Given the description of an element on the screen output the (x, y) to click on. 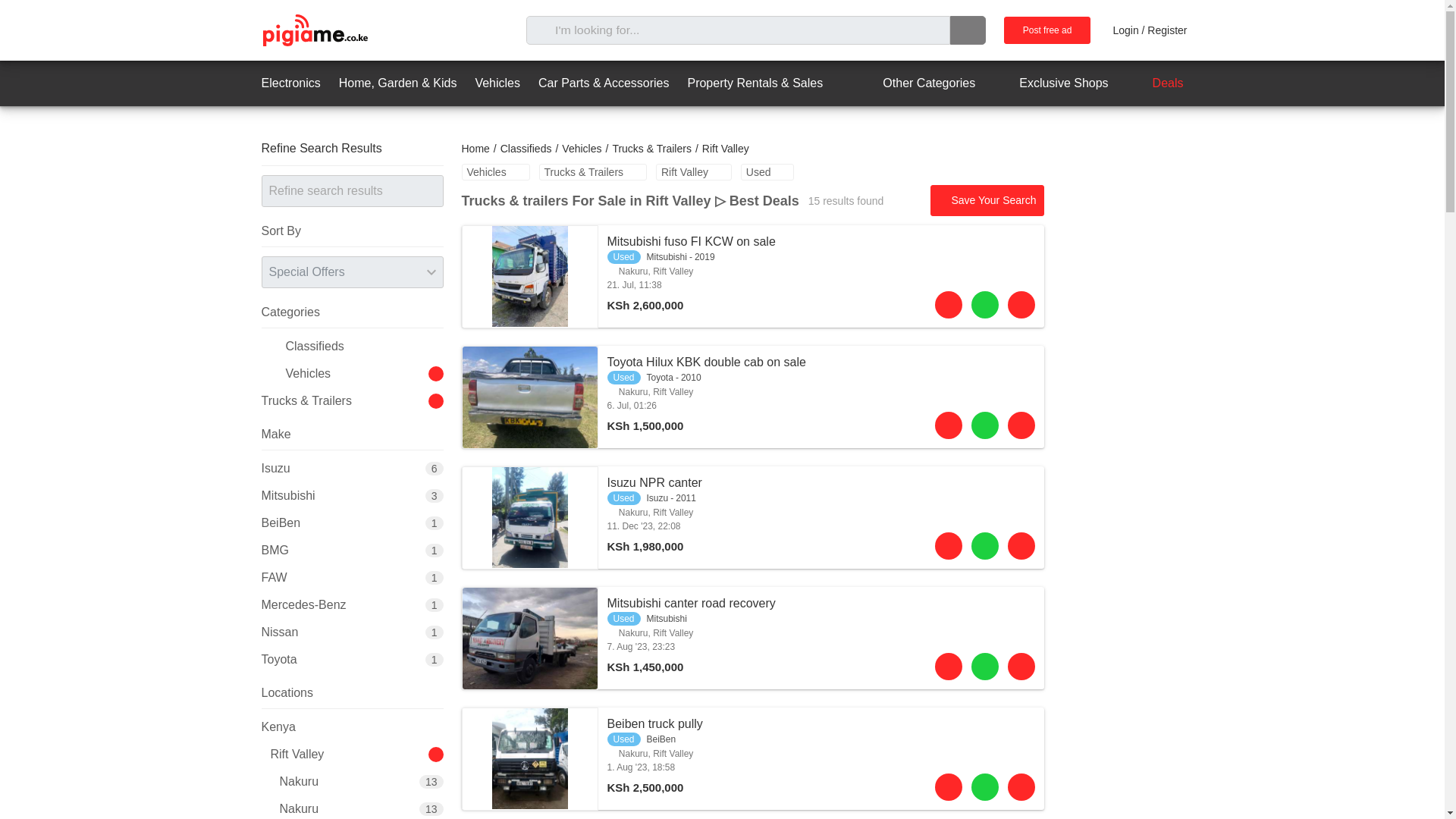
Post free ad (1047, 30)
Deals (1155, 83)
Classifieds (525, 148)
PigiaMe (314, 29)
Vehicles (495, 171)
Exclusive Shops (1050, 83)
Home (475, 148)
Vehicles (497, 83)
Used (767, 171)
Other Categories (915, 83)
Vehicles (581, 148)
